Given the description of an element on the screen output the (x, y) to click on. 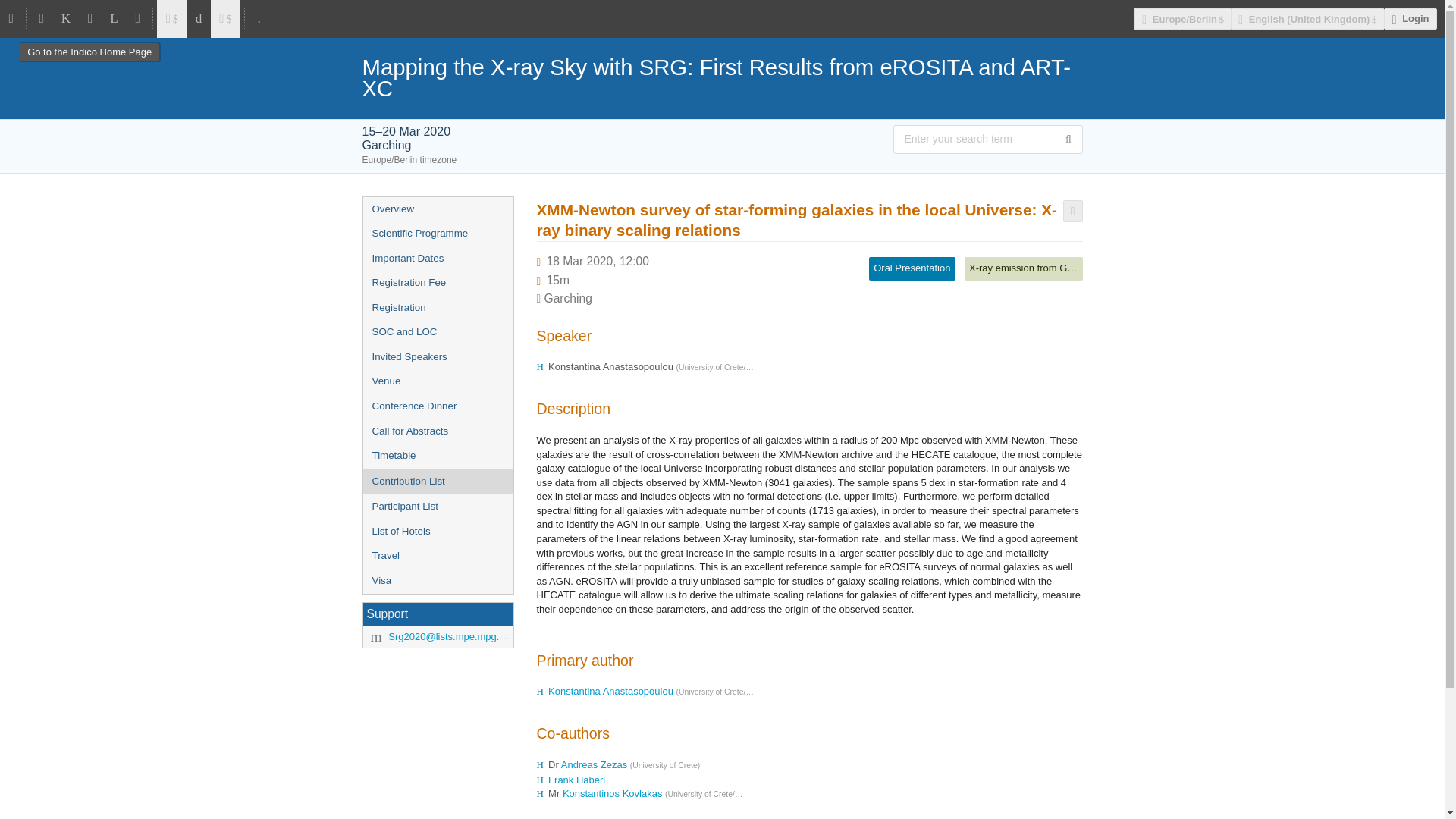
Registration (437, 308)
Registration Fee (437, 283)
Invited Speakers (437, 357)
SOC and LOC (437, 332)
Scientific Programme (437, 233)
Overview (437, 209)
Login (1410, 19)
Duration (558, 279)
Important Dates (437, 258)
Export (1072, 210)
